Given the description of an element on the screen output the (x, y) to click on. 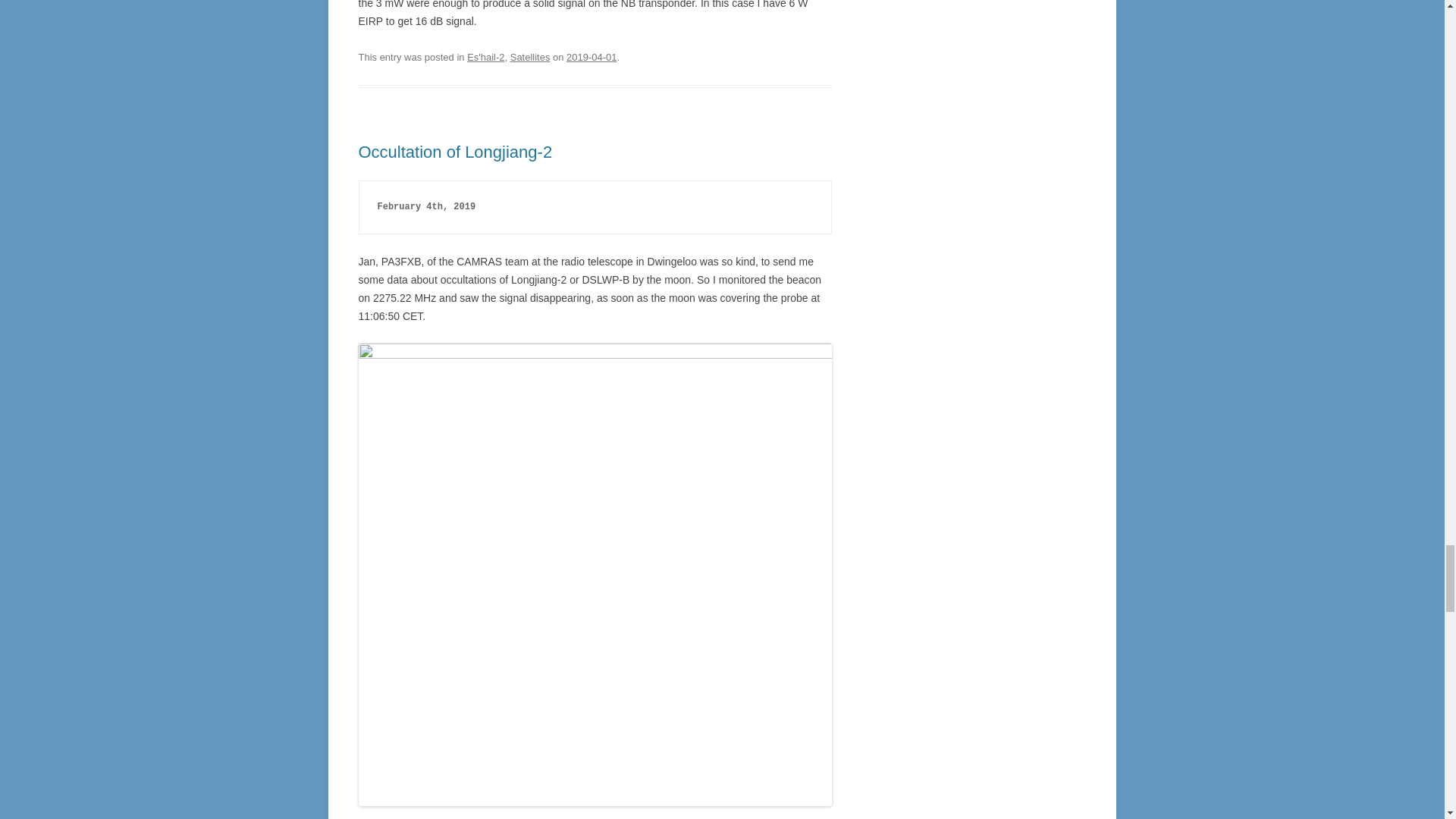
21:05 (590, 57)
